Given the description of an element on the screen output the (x, y) to click on. 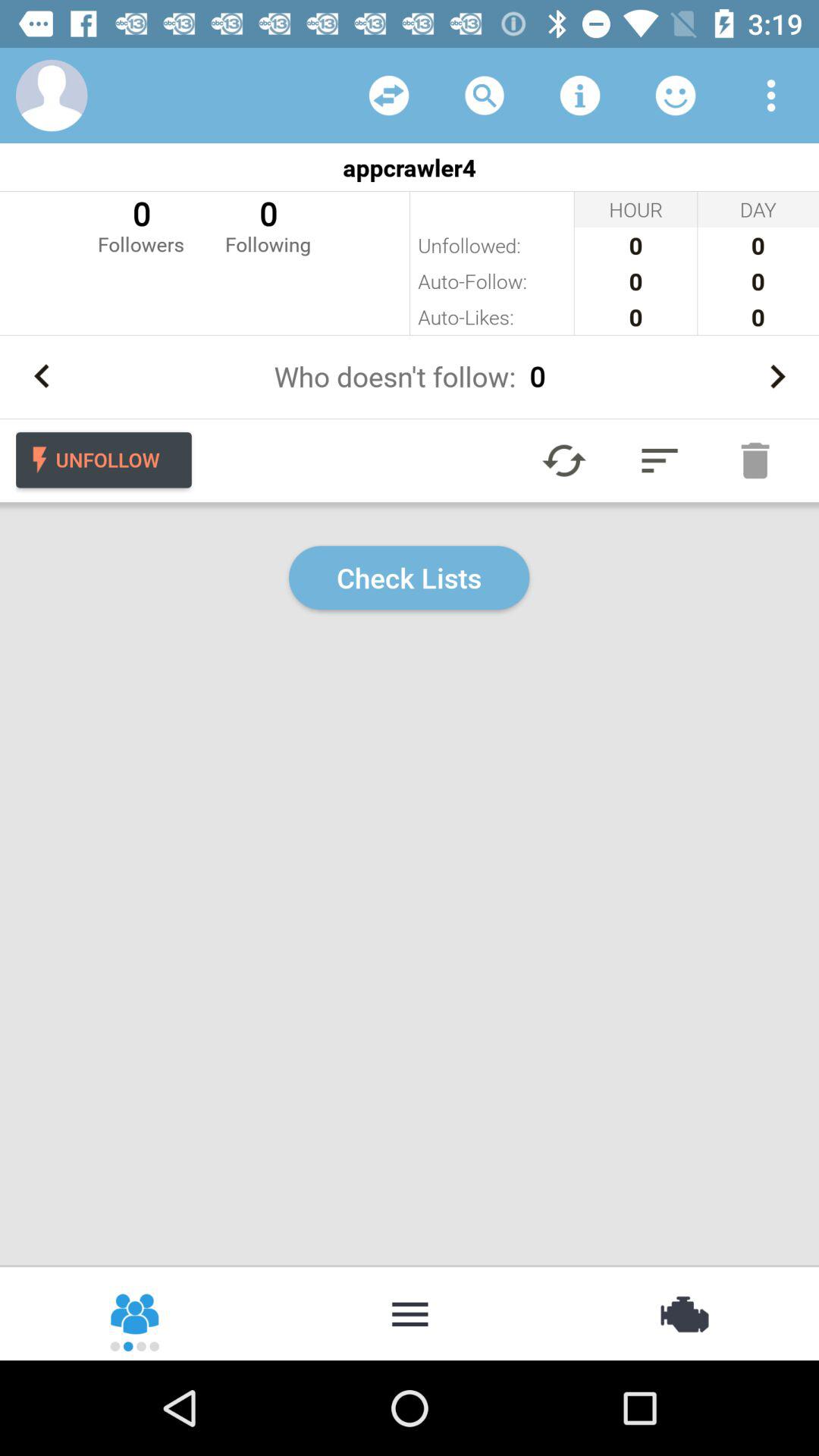
list of followers (675, 95)
